Given the description of an element on the screen output the (x, y) to click on. 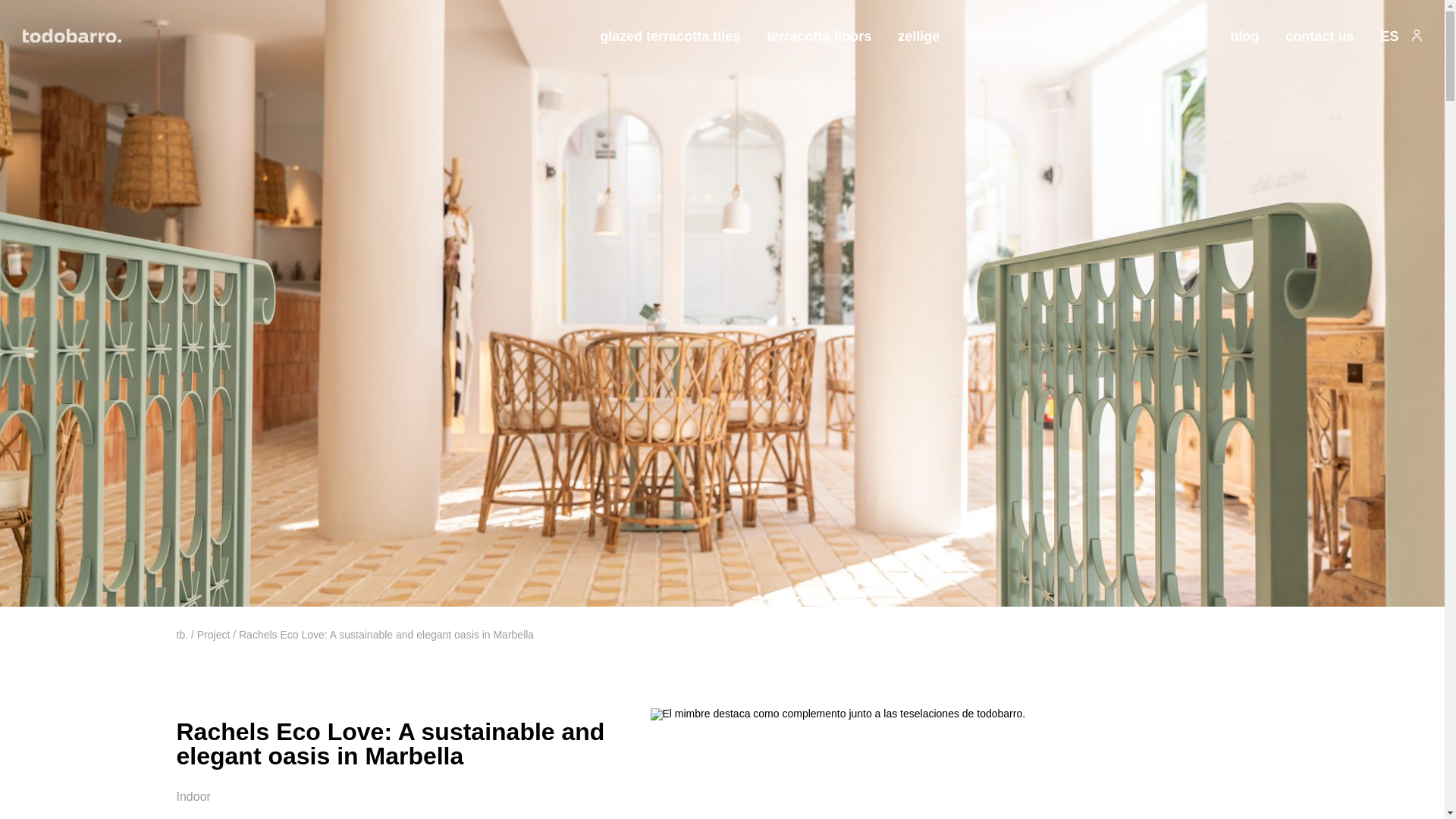
Log In (1030, 139)
projects (1177, 36)
terracotta tiles company (1045, 44)
ES (1389, 35)
contact us (1319, 36)
glazed terracotta tiles (669, 36)
terracotta floors (818, 44)
blog (1244, 36)
zellige (918, 36)
